Given the description of an element on the screen output the (x, y) to click on. 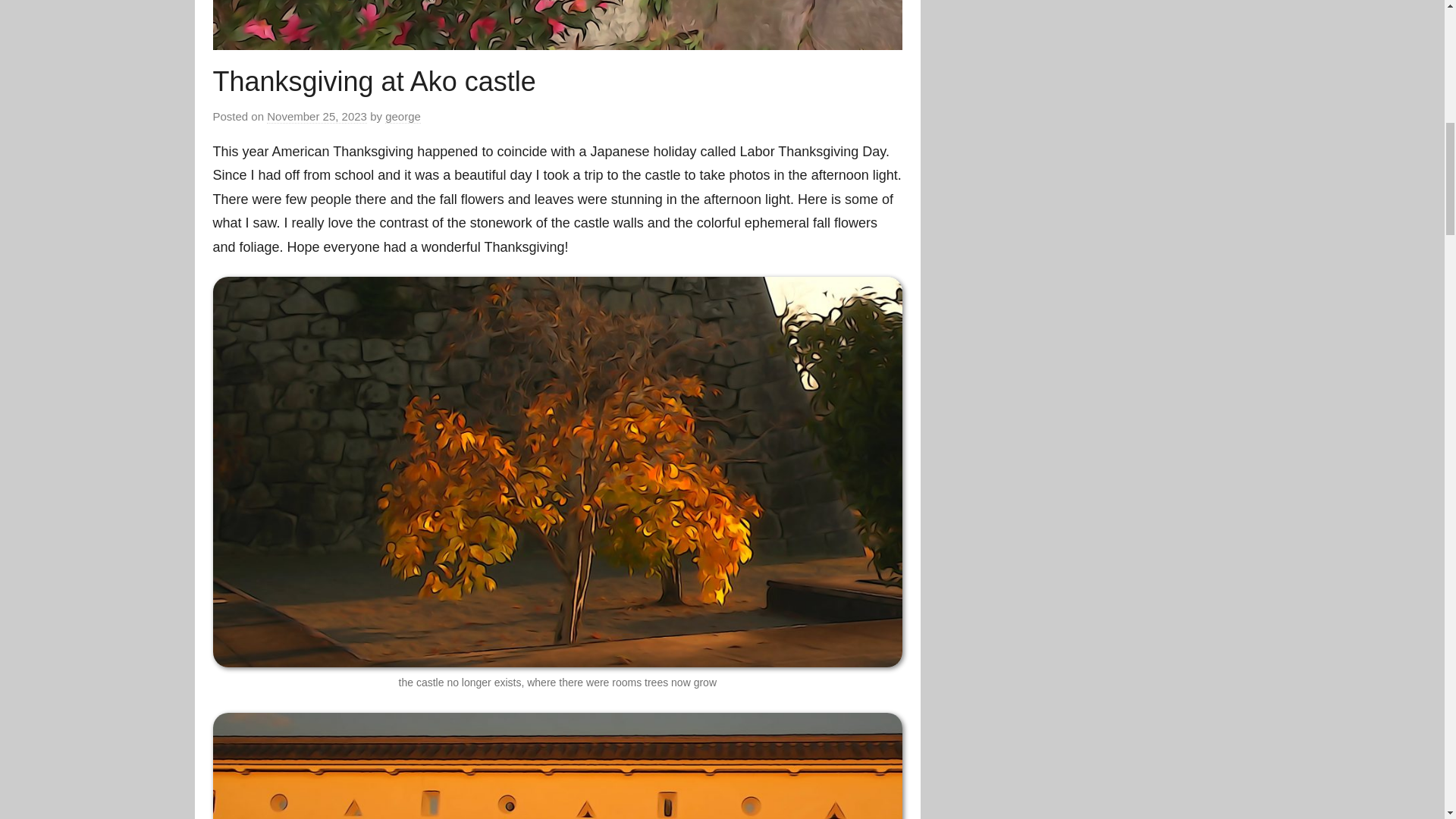
View all posts by george (402, 116)
November 25, 2023 (316, 116)
george (402, 116)
